Given the description of an element on the screen output the (x, y) to click on. 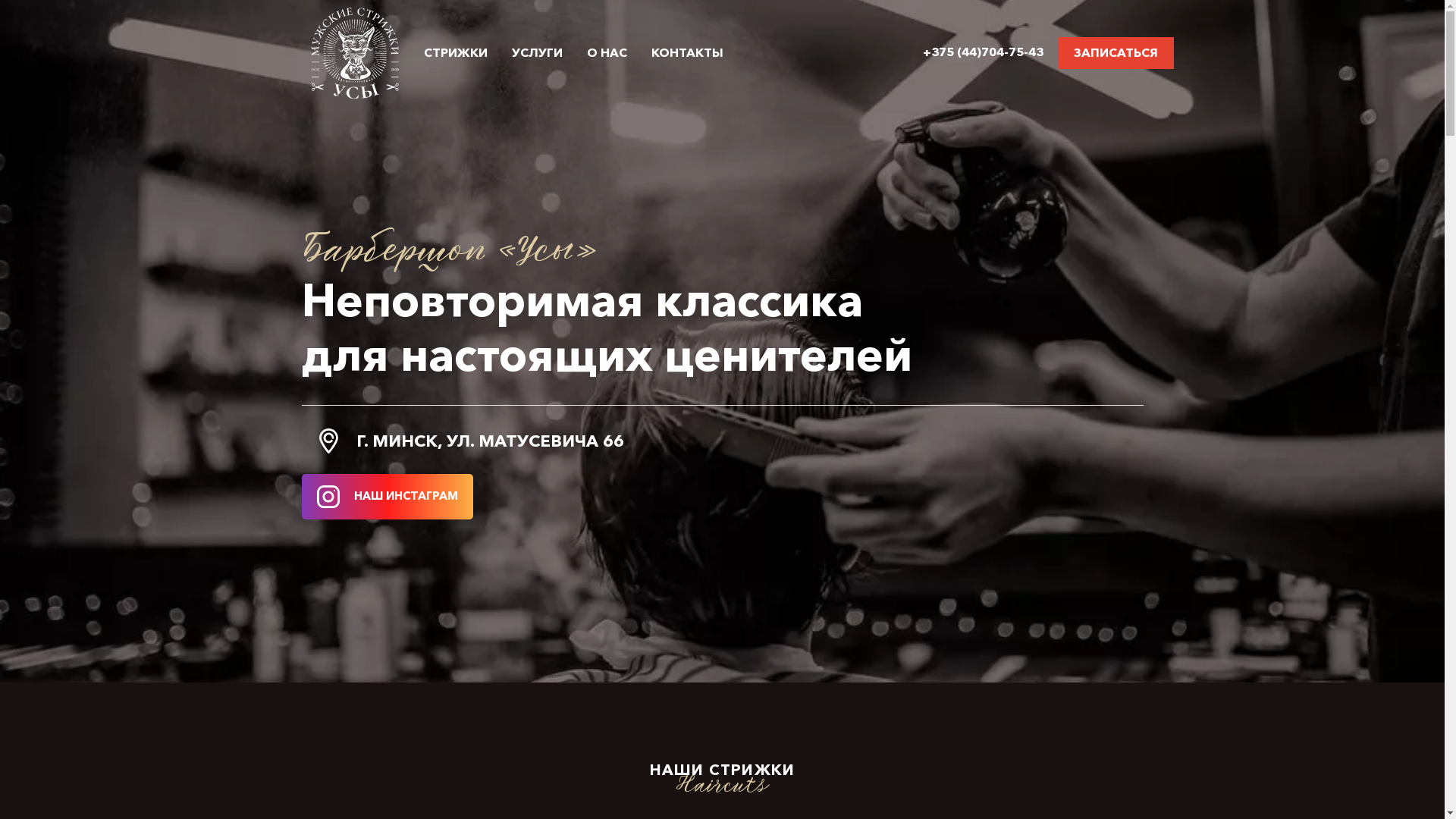
+375 (44)704-75-43 Element type: text (983, 51)
